Given the description of an element on the screen output the (x, y) to click on. 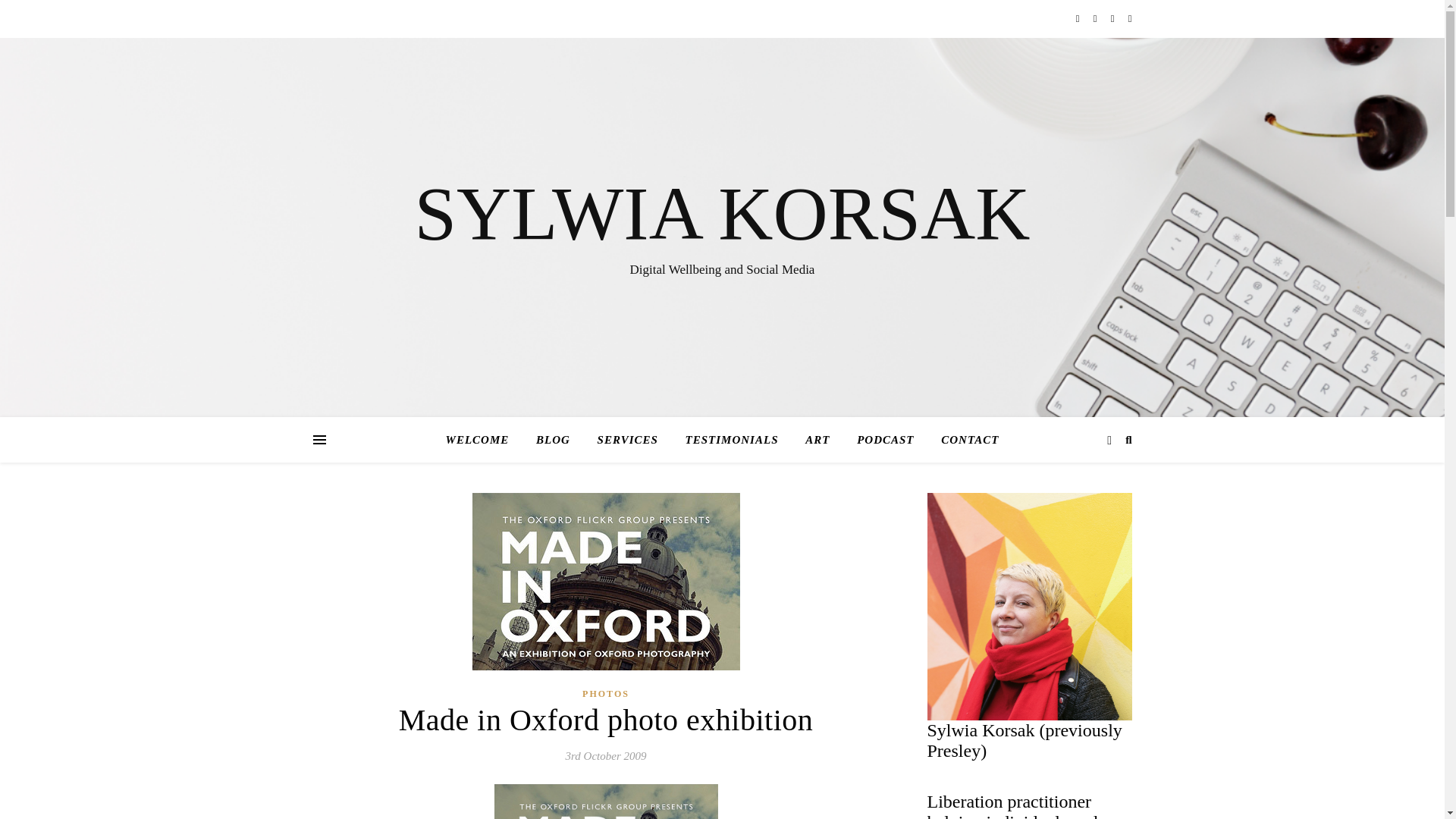
ART (817, 439)
PHOTOS (605, 693)
SERVICES (627, 439)
MadeInOxford (606, 801)
WELCOME (483, 439)
CONTACT (963, 439)
PODCAST (885, 439)
TESTIMONIALS (731, 439)
BLOG (553, 439)
